Given the description of an element on the screen output the (x, y) to click on. 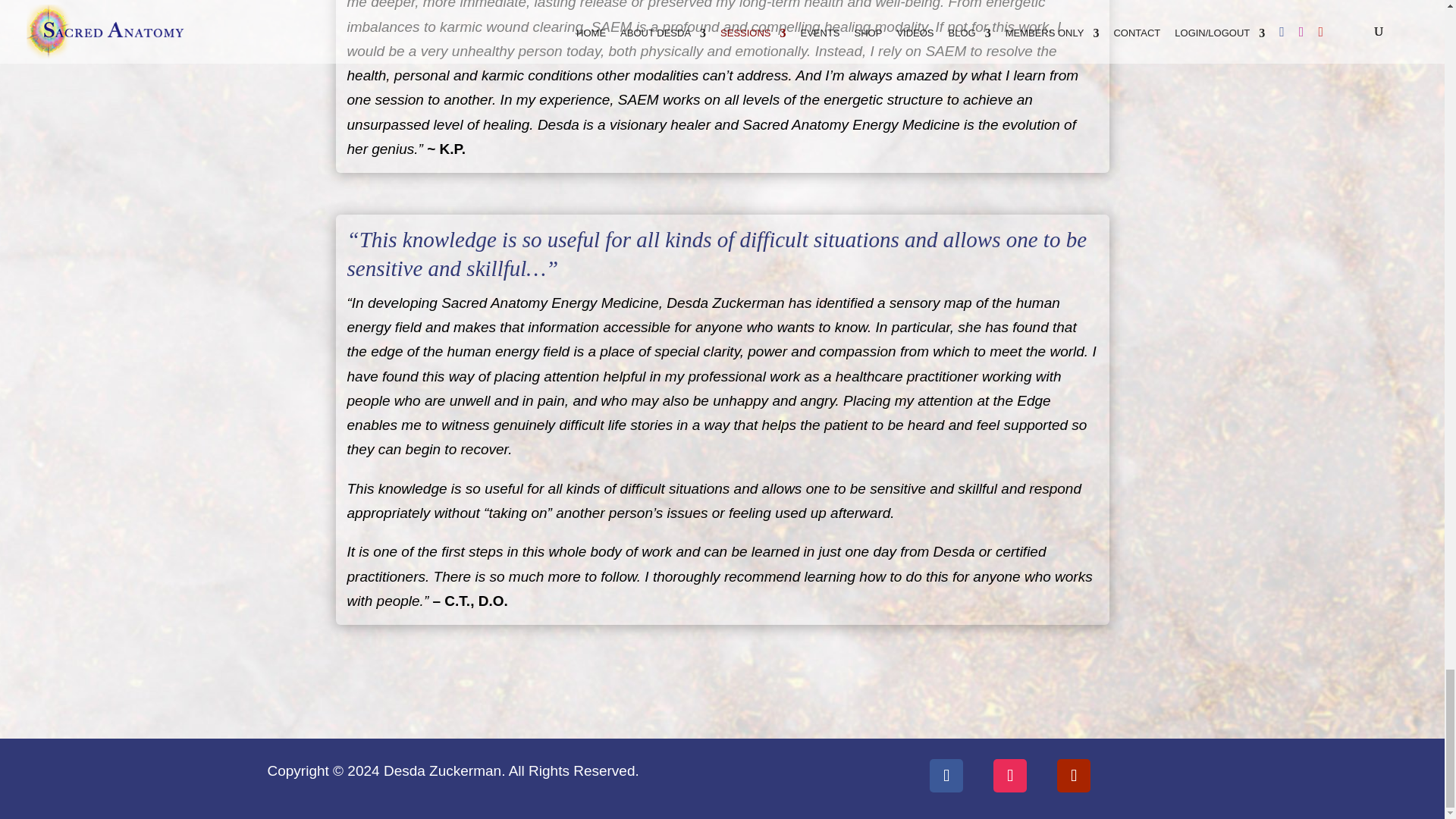
Follow on Facebook (946, 775)
Follow on Instagram (1009, 775)
Follow on Youtube (1073, 775)
